Given the description of an element on the screen output the (x, y) to click on. 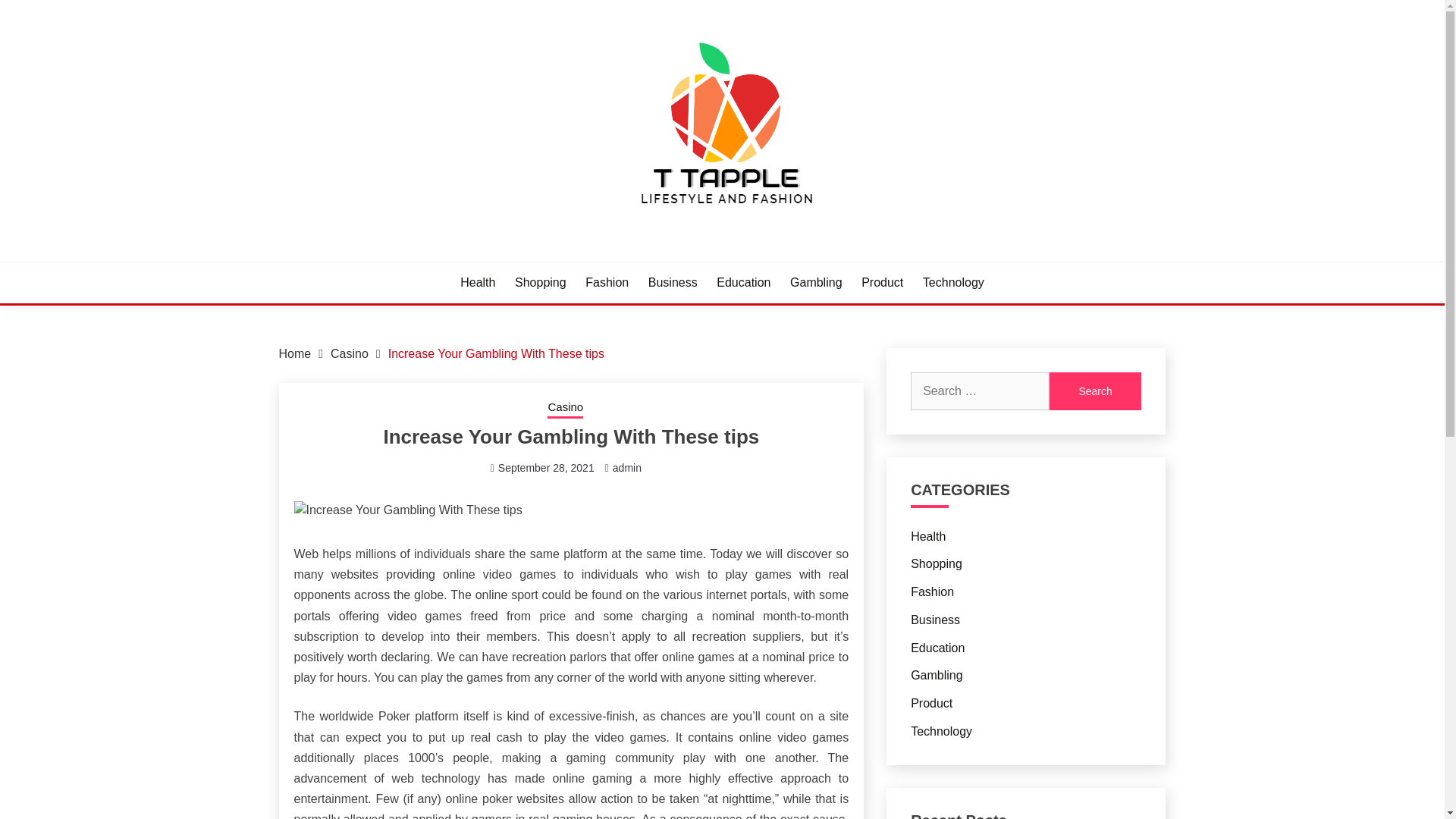
Gambling (815, 282)
Casino (565, 408)
Business (935, 619)
Shopping (540, 282)
Casino (349, 353)
Search (1095, 391)
Search (1095, 391)
Technology (953, 282)
Product (881, 282)
Health (477, 282)
